Given the description of an element on the screen output the (x, y) to click on. 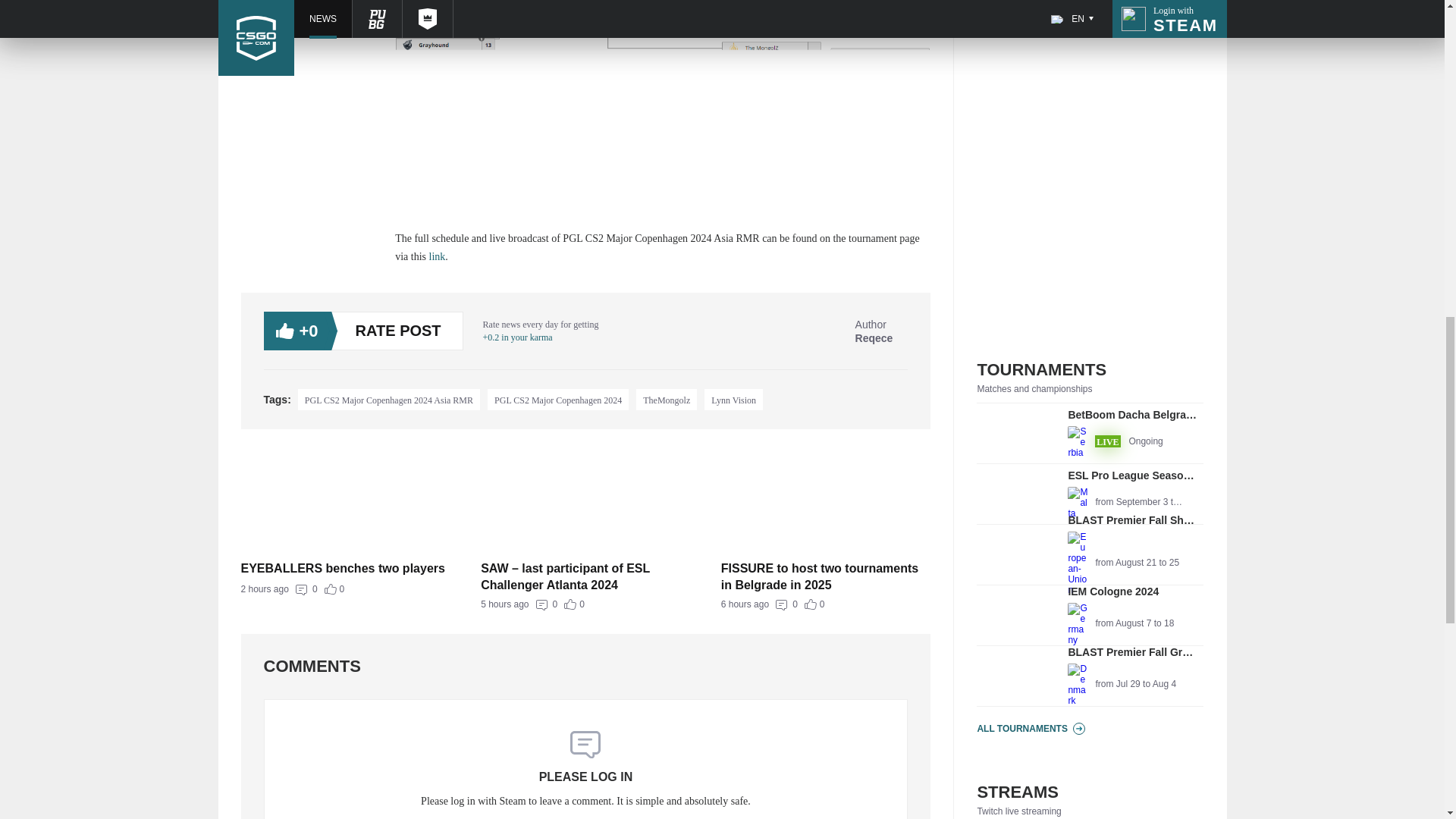
TheMongolz (1090, 554)
Lynn Vision (857, 330)
link (666, 399)
EYEBALLERS benches two players (733, 399)
PGL CS2 Major Copenhagen 2024 (825, 604)
